Given the description of an element on the screen output the (x, y) to click on. 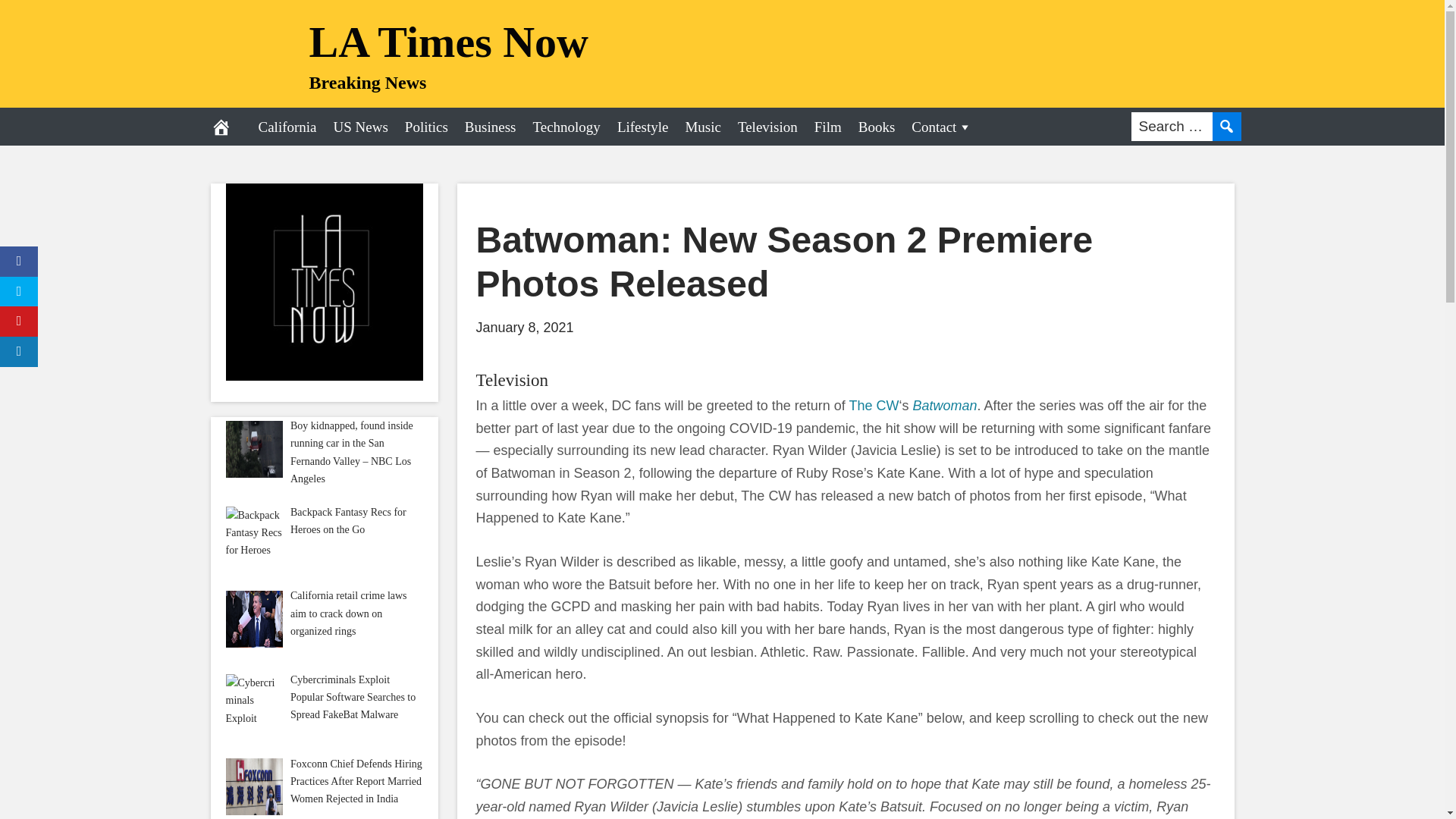
Business (490, 126)
Television (767, 126)
Books (877, 126)
Contact (940, 126)
Lifestyle (642, 126)
LA Times Now (448, 41)
Politics (426, 126)
Film (828, 126)
US News (360, 126)
